Given the description of an element on the screen output the (x, y) to click on. 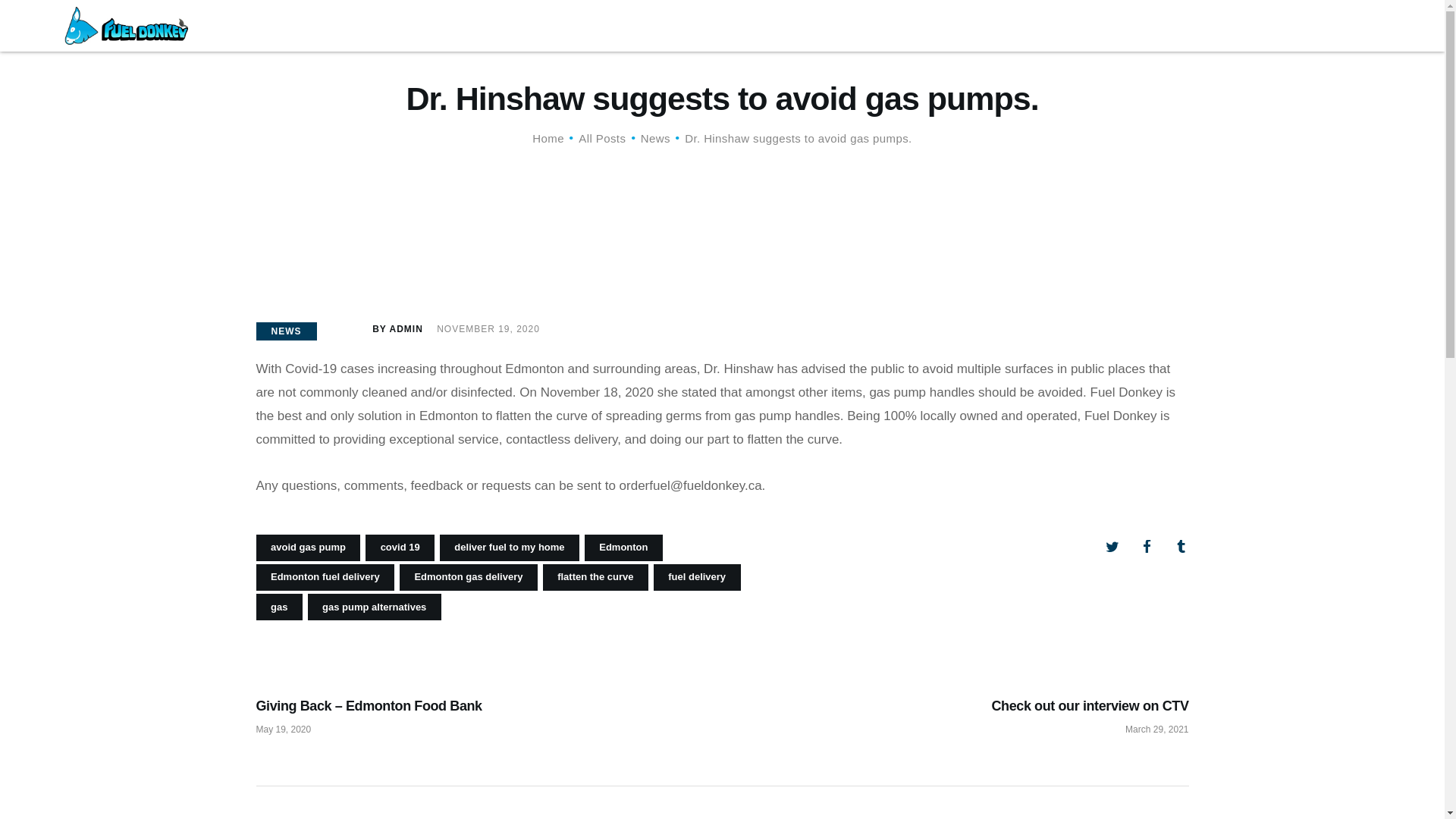
Home (548, 138)
Edmonton fuel delivery (325, 577)
gas (279, 606)
covid 19 (399, 547)
BY ADMIN (386, 329)
News (1007, 704)
All Posts (654, 138)
flatten the curve (602, 137)
gas pump alternatives (595, 577)
